Given the description of an element on the screen output the (x, y) to click on. 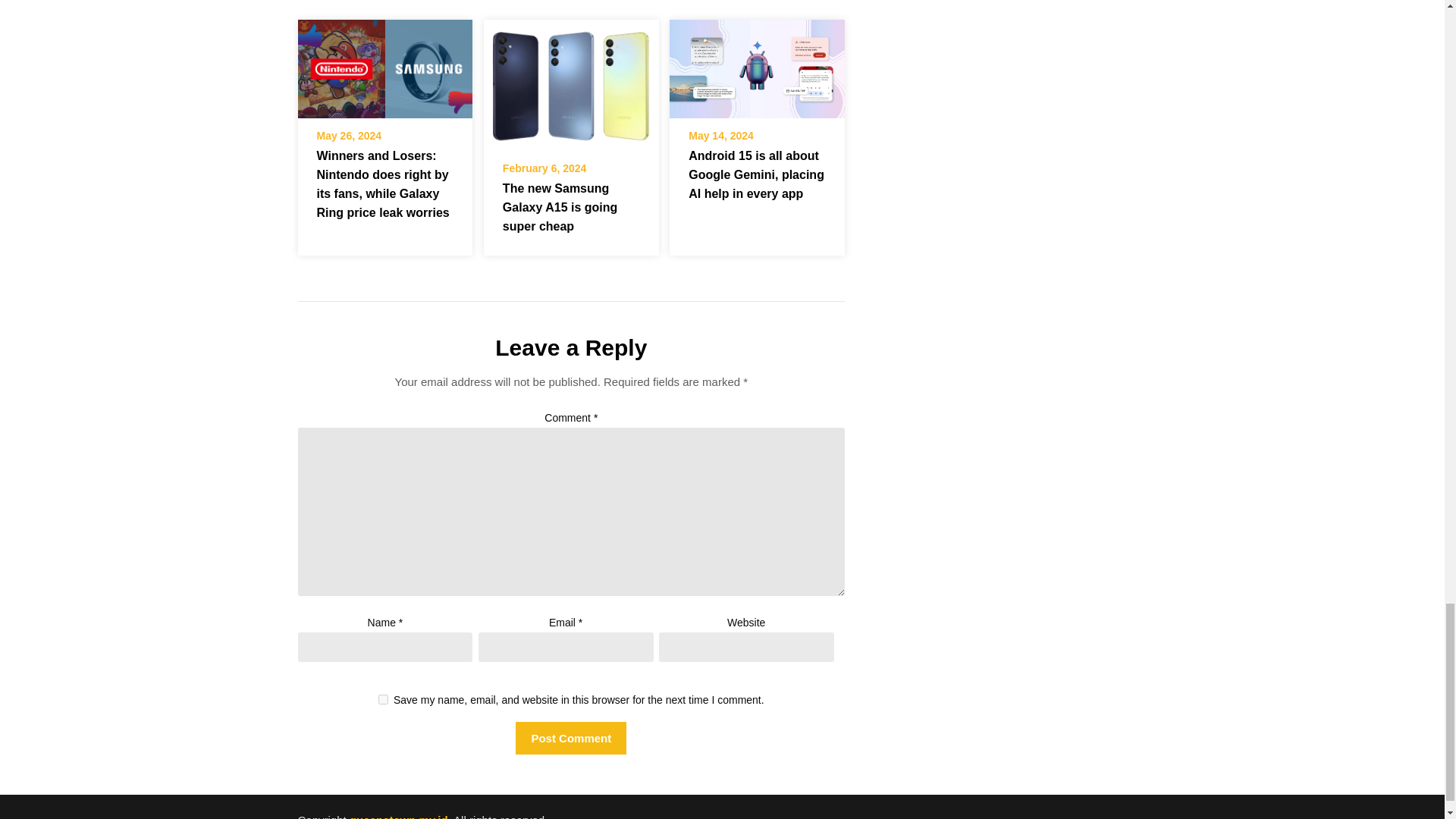
The new Samsung Galaxy A15 is going super cheap (571, 84)
Post Comment (570, 737)
yes (383, 699)
Post Comment (570, 737)
The new Samsung Galaxy A15 is going super cheap (571, 79)
The new Samsung Galaxy A15 is going super cheap (559, 206)
